Given the description of an element on the screen output the (x, y) to click on. 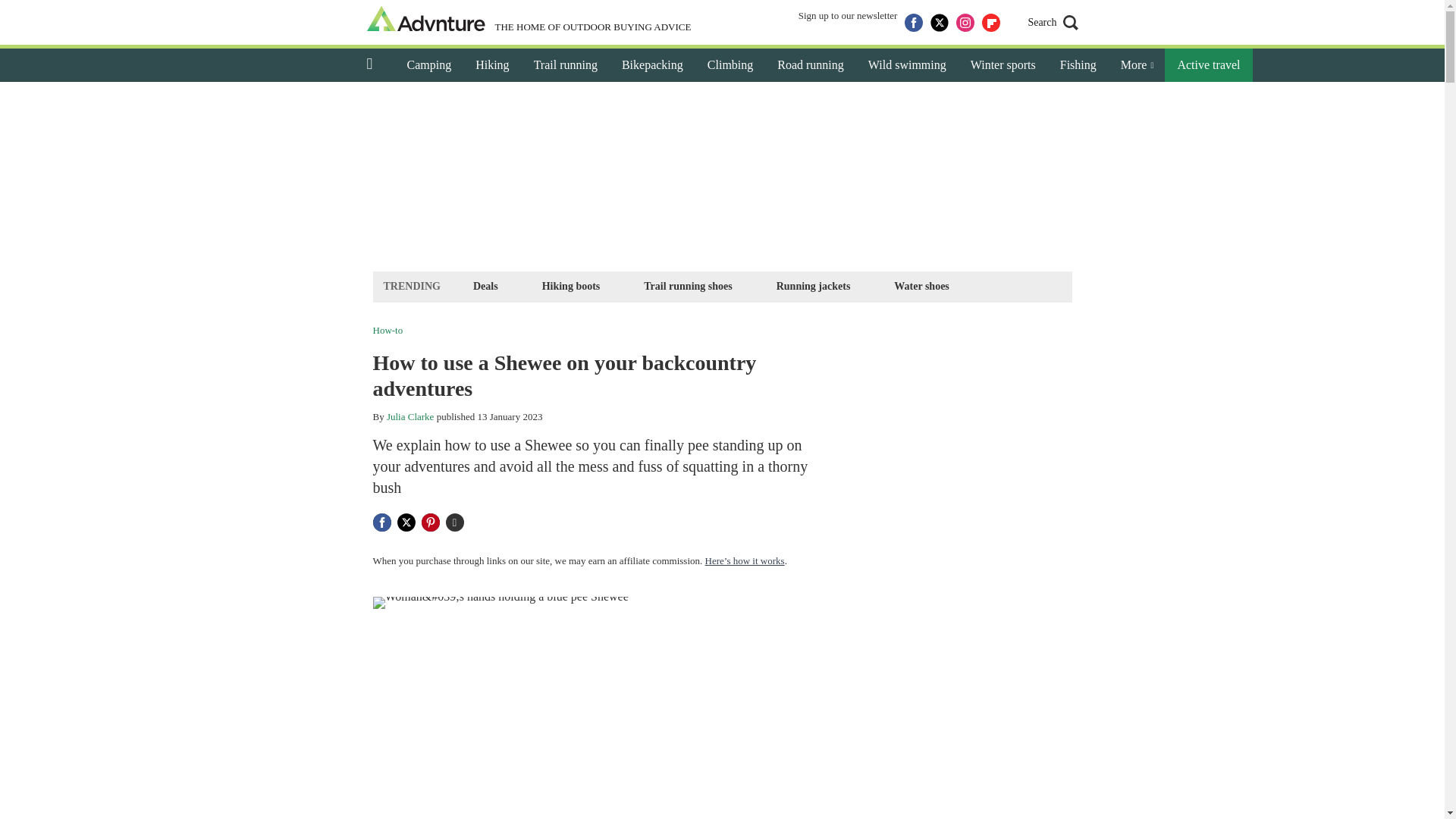
Hiking (492, 64)
Hiking boots (571, 286)
Road running (810, 64)
How-to (387, 329)
Julia Clarke (410, 416)
Trail running shoes (687, 286)
Trail running (565, 64)
Deals (485, 286)
Fishing (1078, 64)
Wild swimming (907, 64)
